Given the description of an element on the screen output the (x, y) to click on. 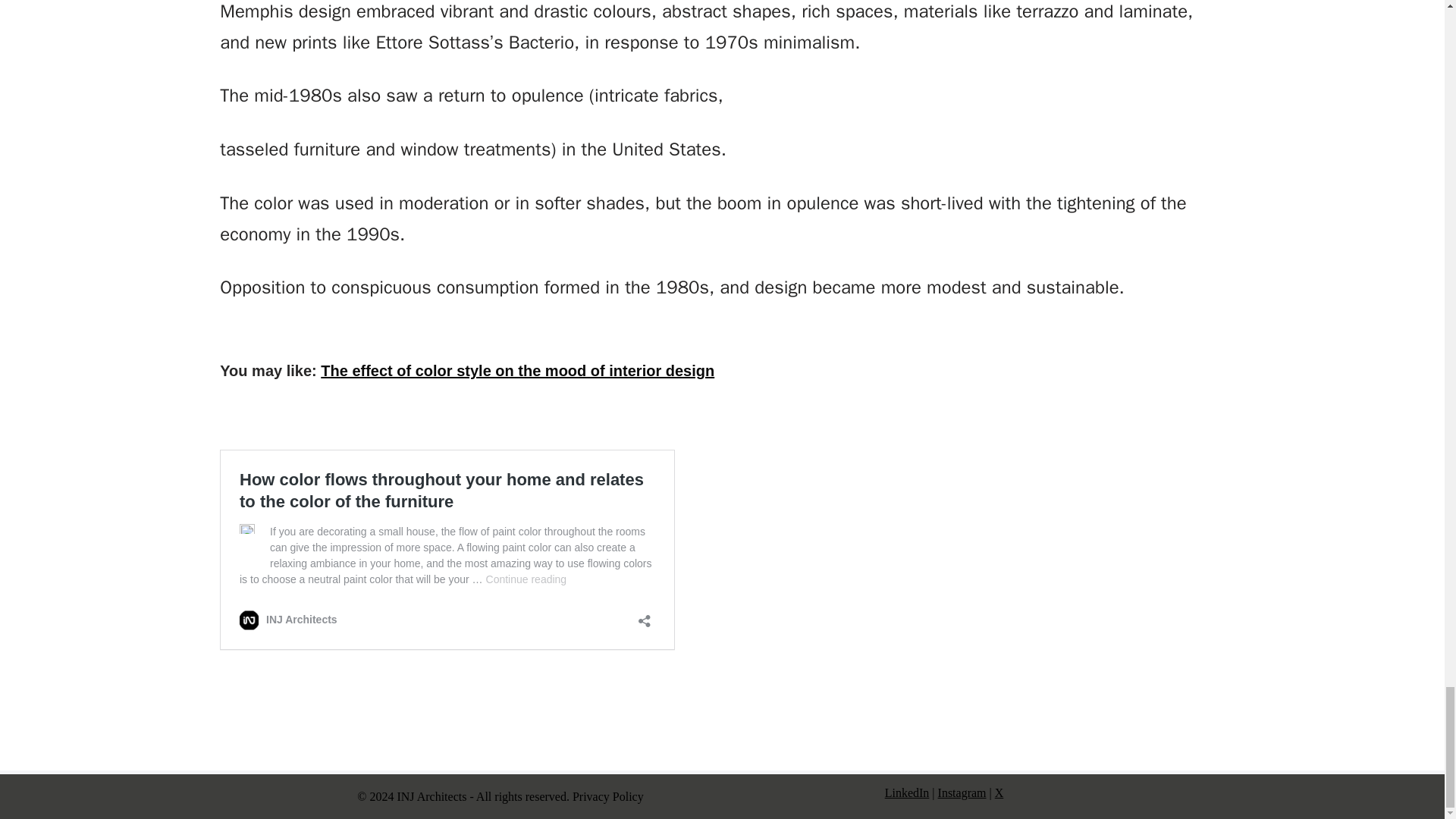
Privacy Policy (607, 796)
LinkedIn (907, 792)
The effect of color style on the mood of interior design (517, 370)
Instagram (962, 792)
